Given the description of an element on the screen output the (x, y) to click on. 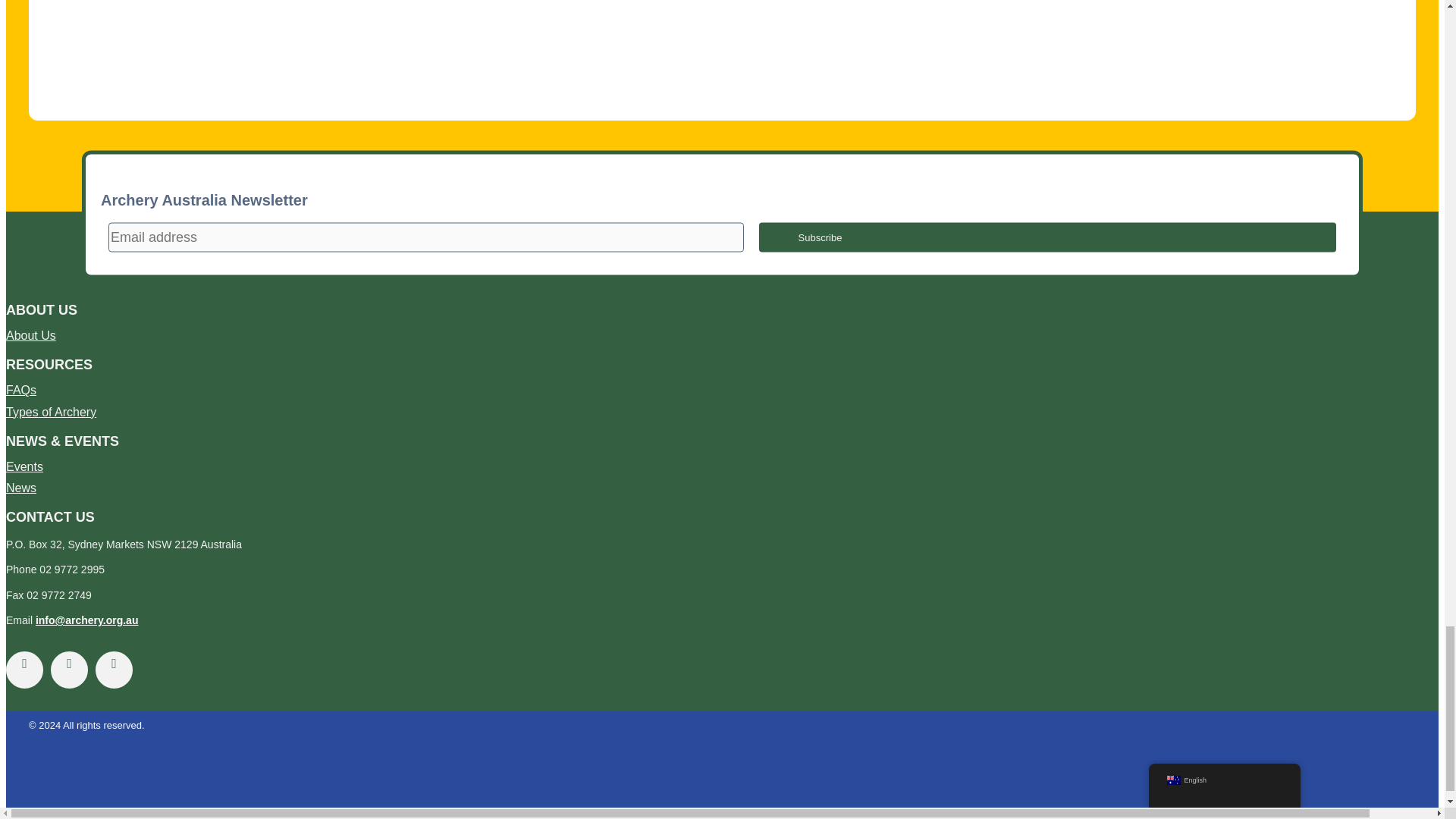
Subscribe (1047, 236)
